Given the description of an element on the screen output the (x, y) to click on. 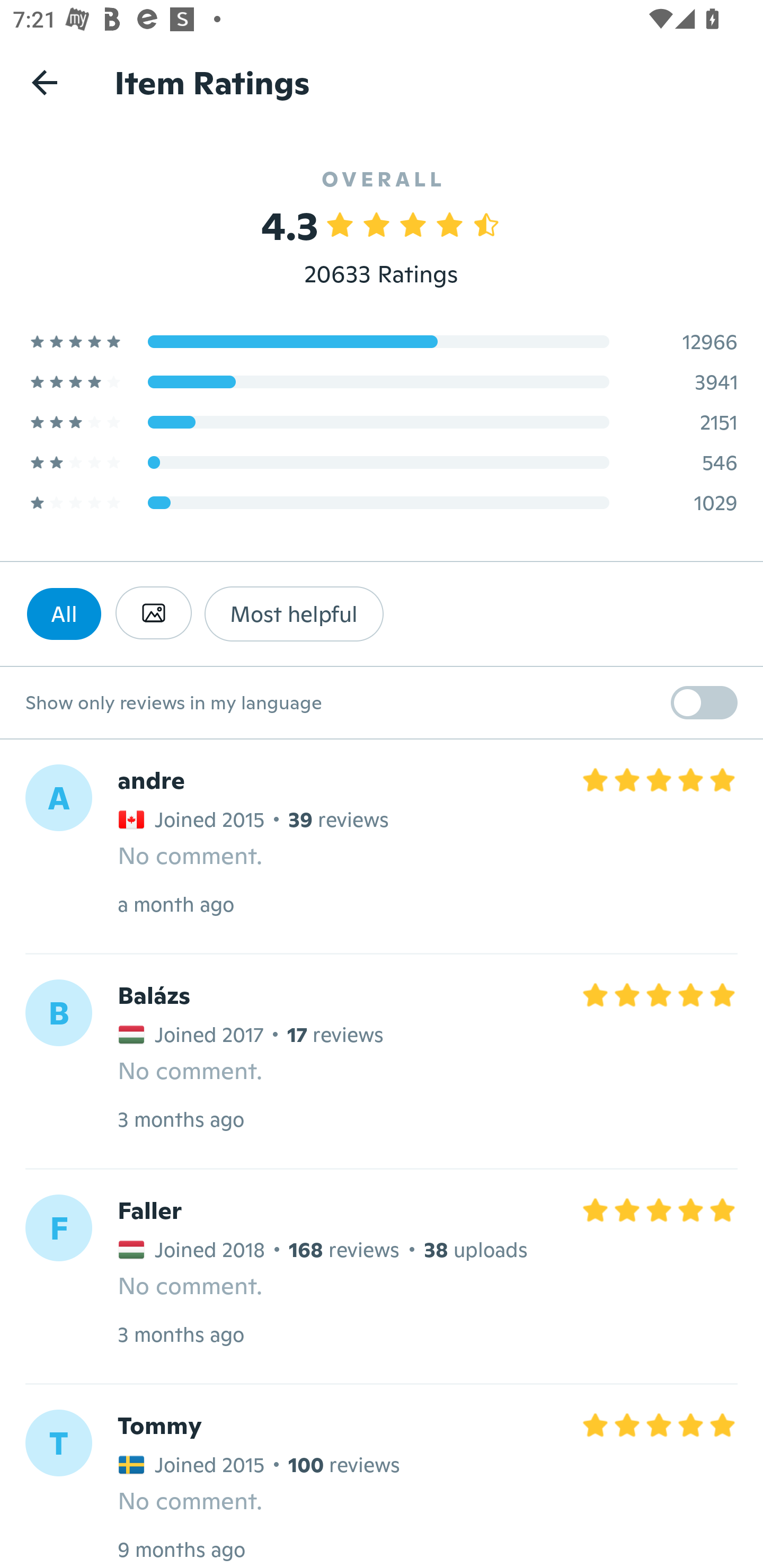
Navigate up (44, 82)
5 Star Rating 12966 (381, 341)
4 Star Rating 3941 (381, 381)
3 Star Rating 2151 (381, 421)
2 Star Rating 546 (381, 462)
1 Star Rating 1029 (381, 502)
All (64, 613)
Has photo (153, 612)
Most helpful (293, 613)
Show only reviews in my language (381, 702)
A (58, 798)
andre (150, 780)
a month ago (175, 903)
B (58, 1012)
Balázs (153, 995)
3 months ago (180, 1119)
F (58, 1227)
Faller (149, 1210)
3 months ago (180, 1334)
T (58, 1443)
Tommy (159, 1424)
9 months ago (181, 1549)
